Given the description of an element on the screen output the (x, y) to click on. 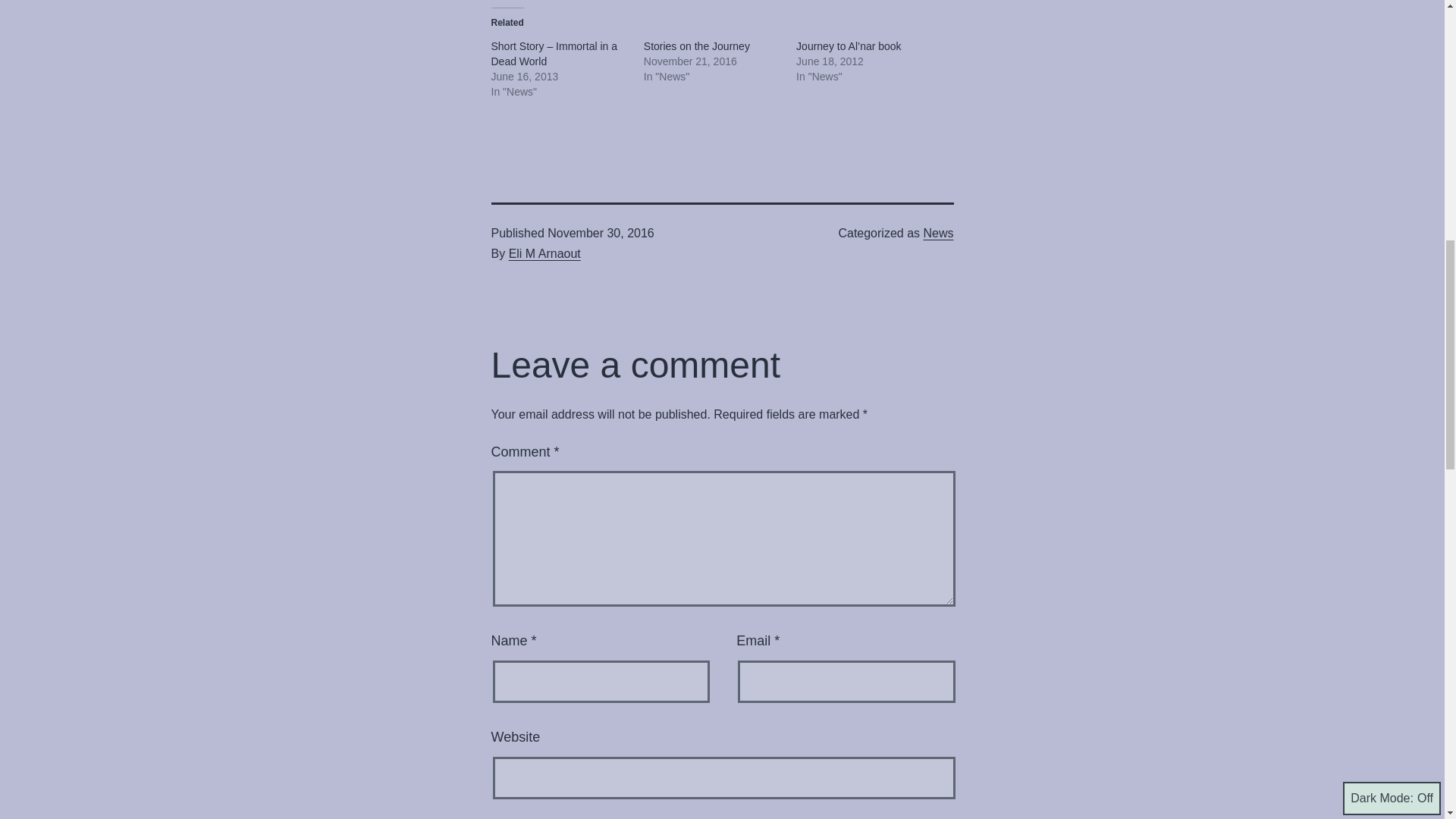
News (938, 232)
Stories on the Journey (696, 46)
Stories on the Journey (696, 46)
Eli M Arnaout (544, 253)
